Given the description of an element on the screen output the (x, y) to click on. 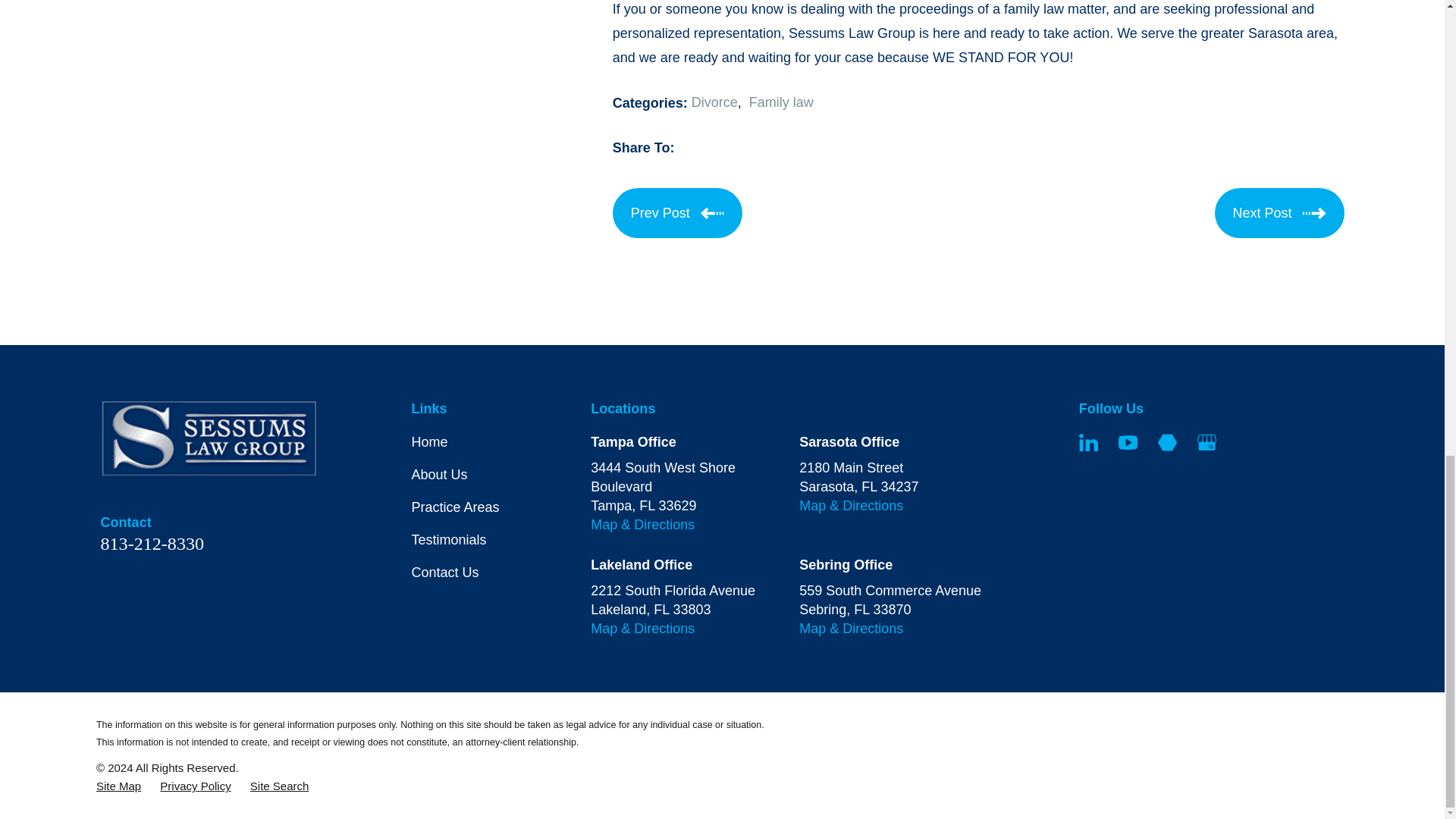
LinkedIn (1087, 442)
Home (209, 438)
YouTube (1127, 442)
Google Business Profile (1205, 442)
Martindale (1166, 442)
